Given the description of an element on the screen output the (x, y) to click on. 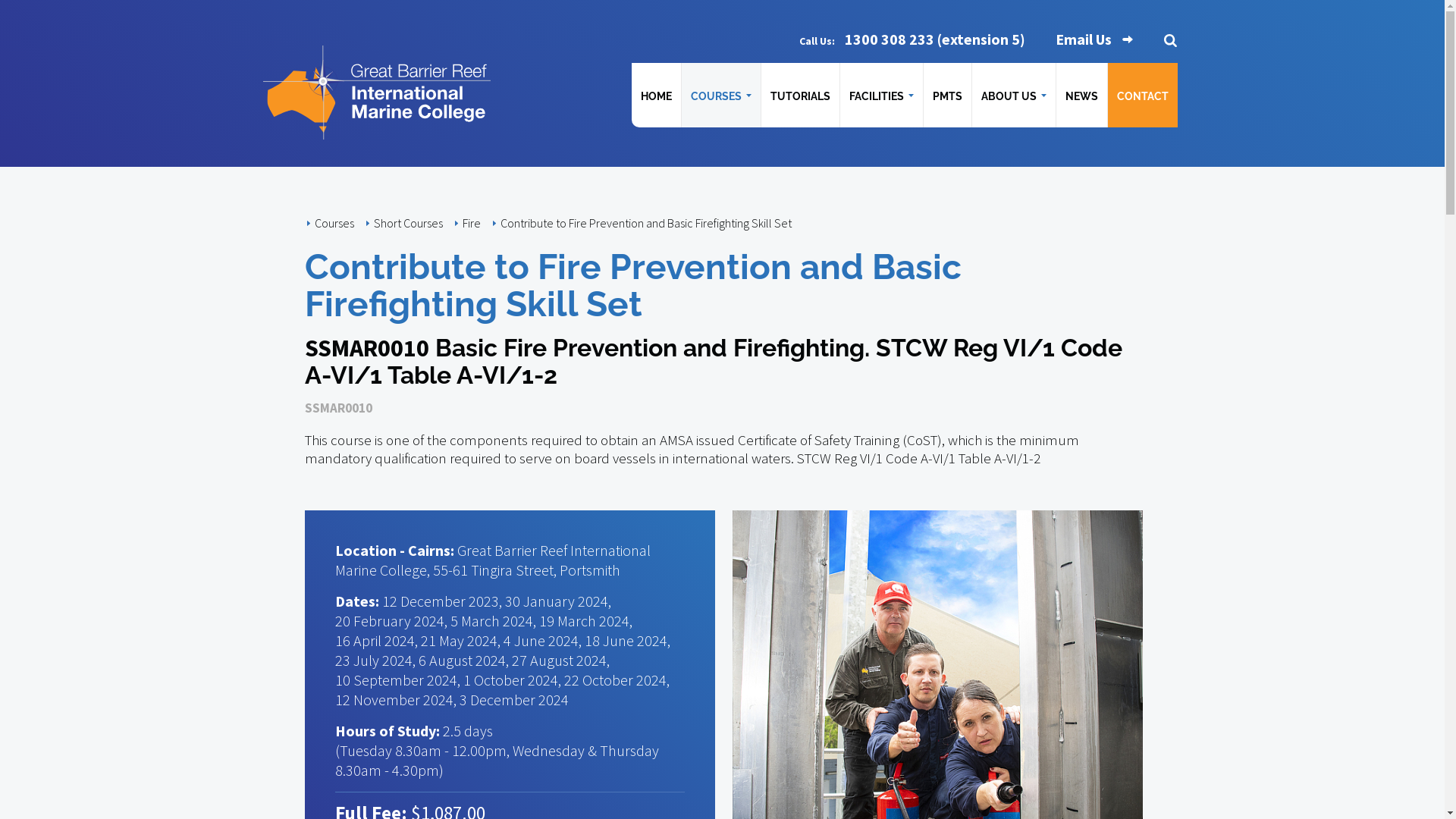
ABOUT US Element type: text (1013, 94)
FACILITIES Element type: text (881, 94)
HOME Element type: text (655, 94)
COURSES Element type: text (719, 94)
Call Us: 1300 308 233 (extension 5) Element type: text (912, 38)
Courses Element type: text (334, 222)
NEWS Element type: text (1080, 94)
Short Courses Element type: text (407, 222)
TUTORIALS Element type: text (800, 94)
PMTS Element type: text (947, 94)
Email Us Element type: text (1093, 38)
Fire Element type: text (471, 222)
CONTACT Element type: text (1141, 94)
